Given the description of an element on the screen output the (x, y) to click on. 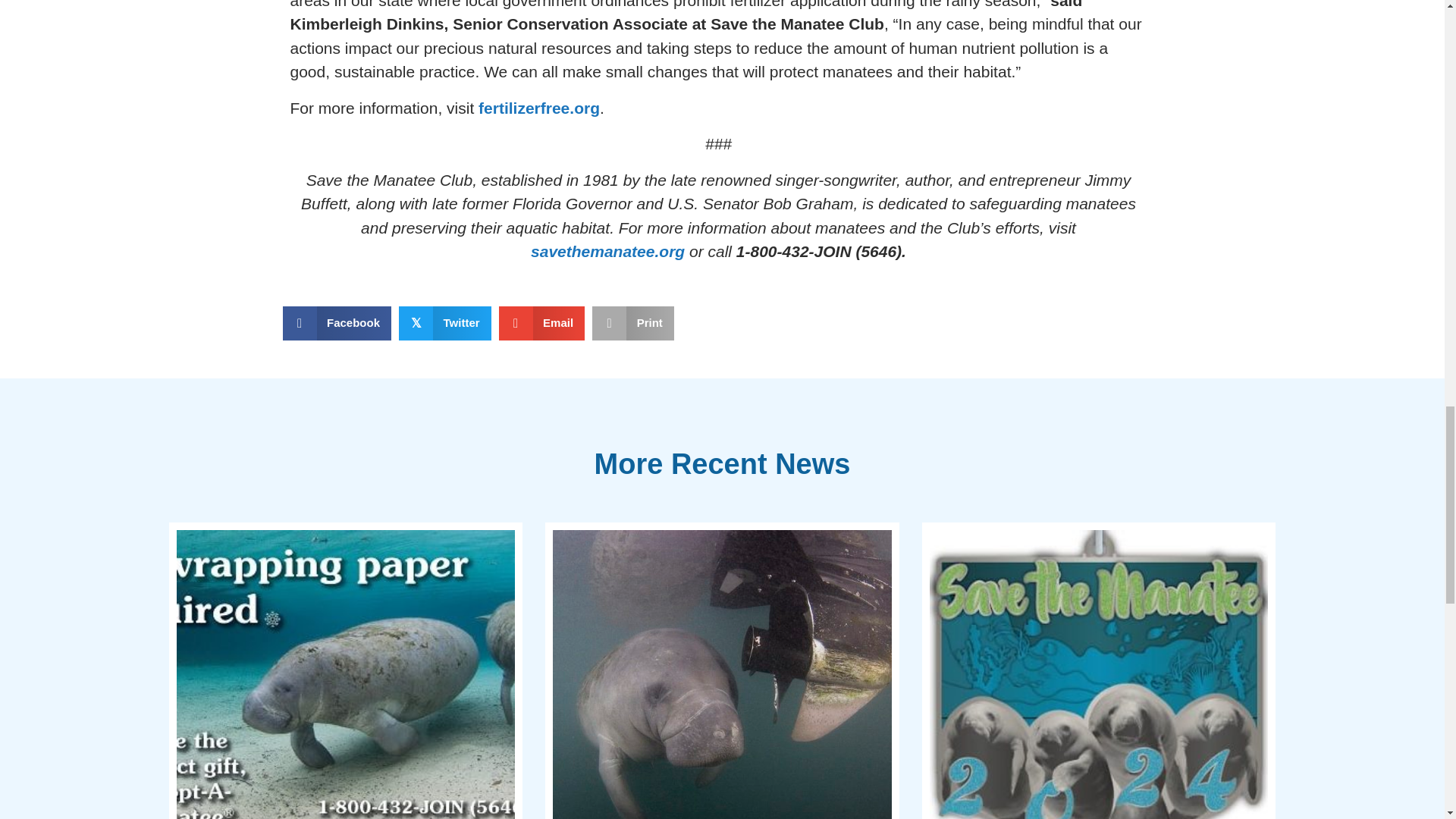
Florida Manatee (722, 674)
Blobid0 1720625845581 (1099, 674)
Celebrate Safely: Protect Manatees This July 4th (721, 670)
Blobid2 1720794056115 (345, 674)
